Given the description of an element on the screen output the (x, y) to click on. 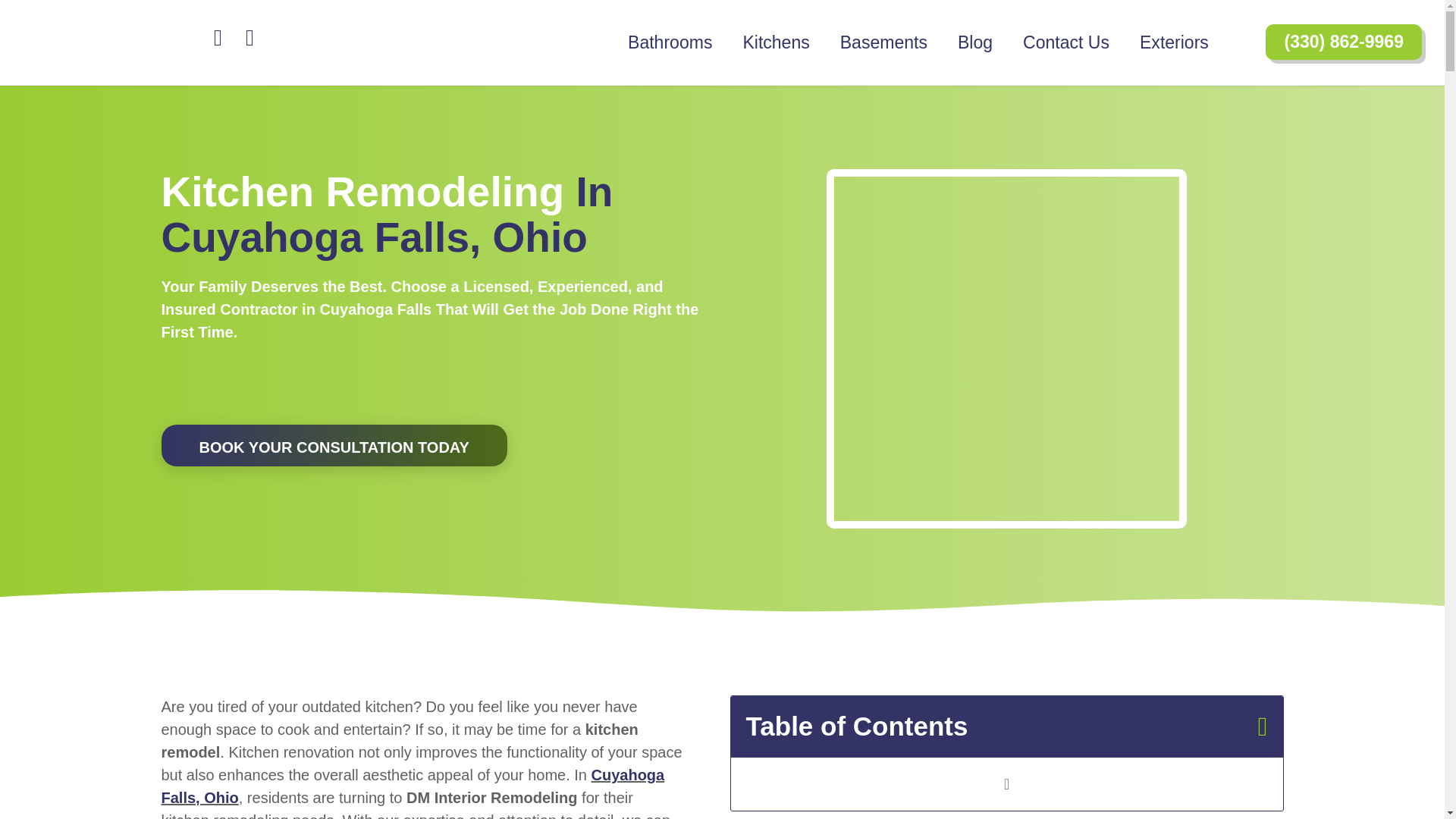
Exteriors (1174, 42)
Kitchens (775, 42)
Blog (974, 42)
Cuyahoga Falls, OH Kitchen Remodeling 2 (1006, 347)
Bathrooms (669, 42)
Contact Us (1065, 42)
Basements (883, 42)
Cuyahoga Falls, OH Kitchen Remodeling 1 (325, 389)
